Given the description of an element on the screen output the (x, y) to click on. 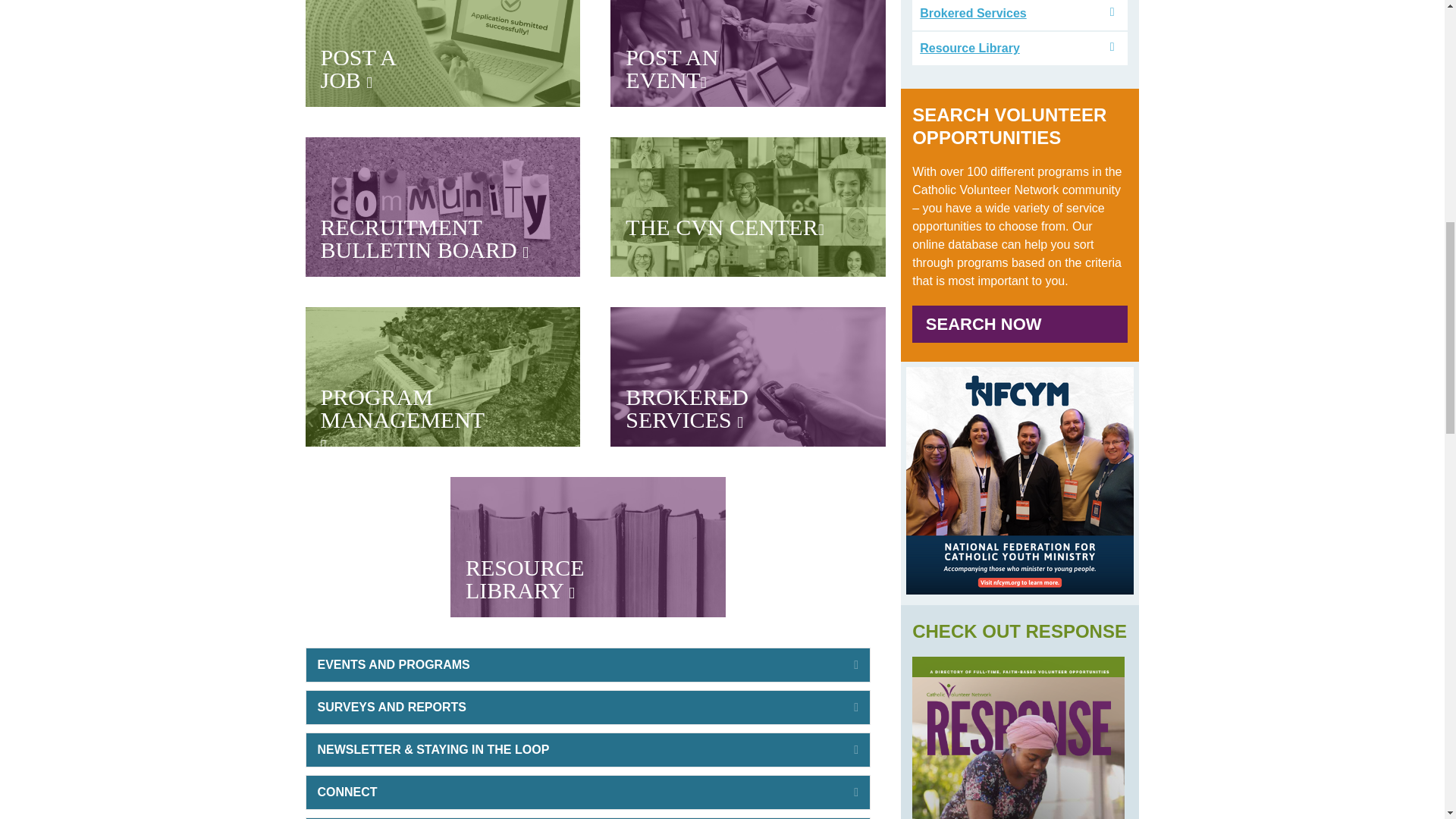
THE CVN CENTER (725, 226)
LeaderworX Summer Intern (441, 206)
PROGRAM MANAGEMENT (525, 578)
EVENTS AND PROGRAMS (402, 419)
Program-Management-Resources (423, 238)
image 11 (574, 665)
